Given the description of an element on the screen output the (x, y) to click on. 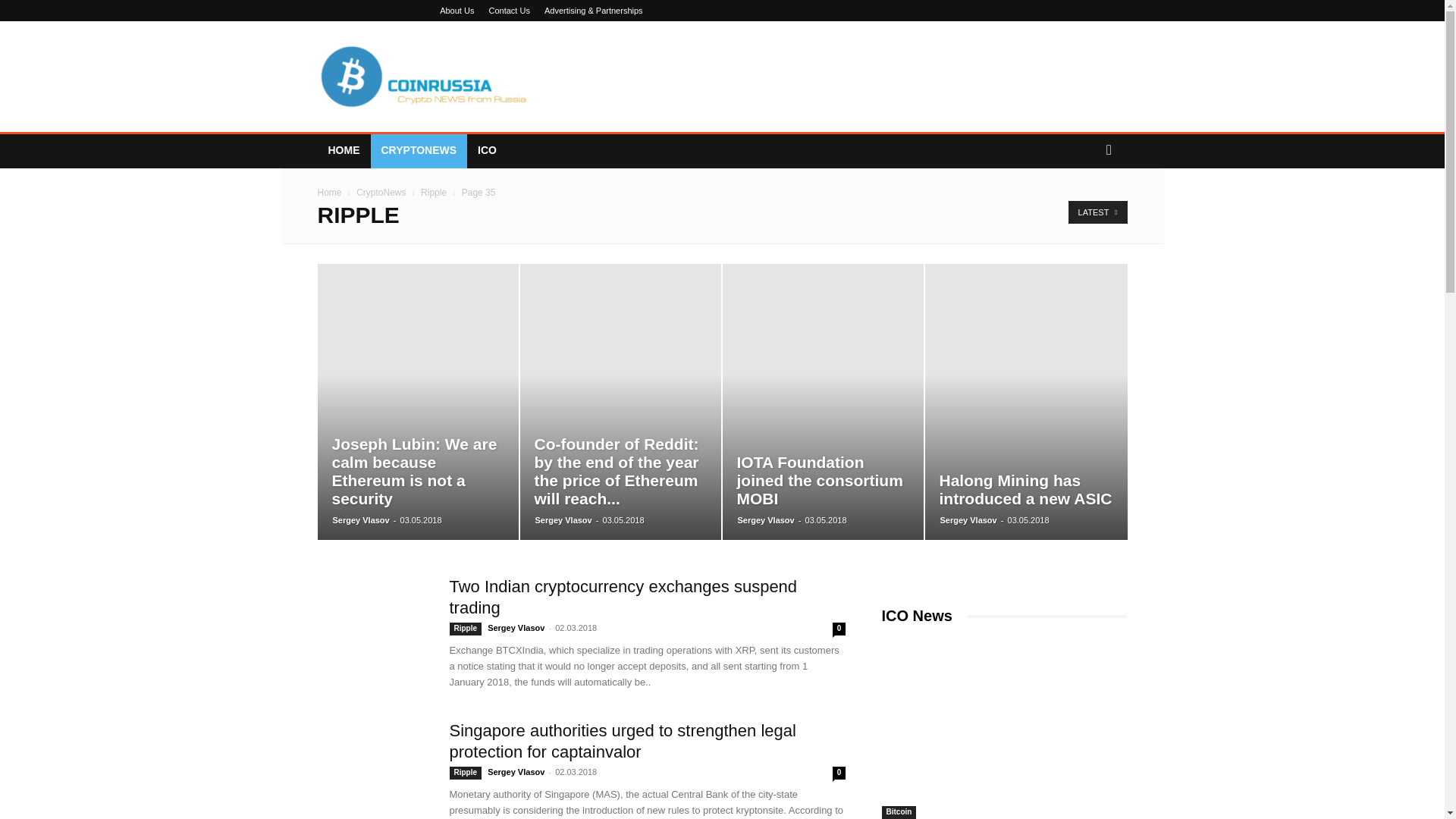
Coinrussia Logo (424, 75)
ICO (486, 149)
About Us (456, 10)
CRYPTONEWS (418, 149)
HOME (343, 149)
Contact Us (508, 10)
